Given the description of an element on the screen output the (x, y) to click on. 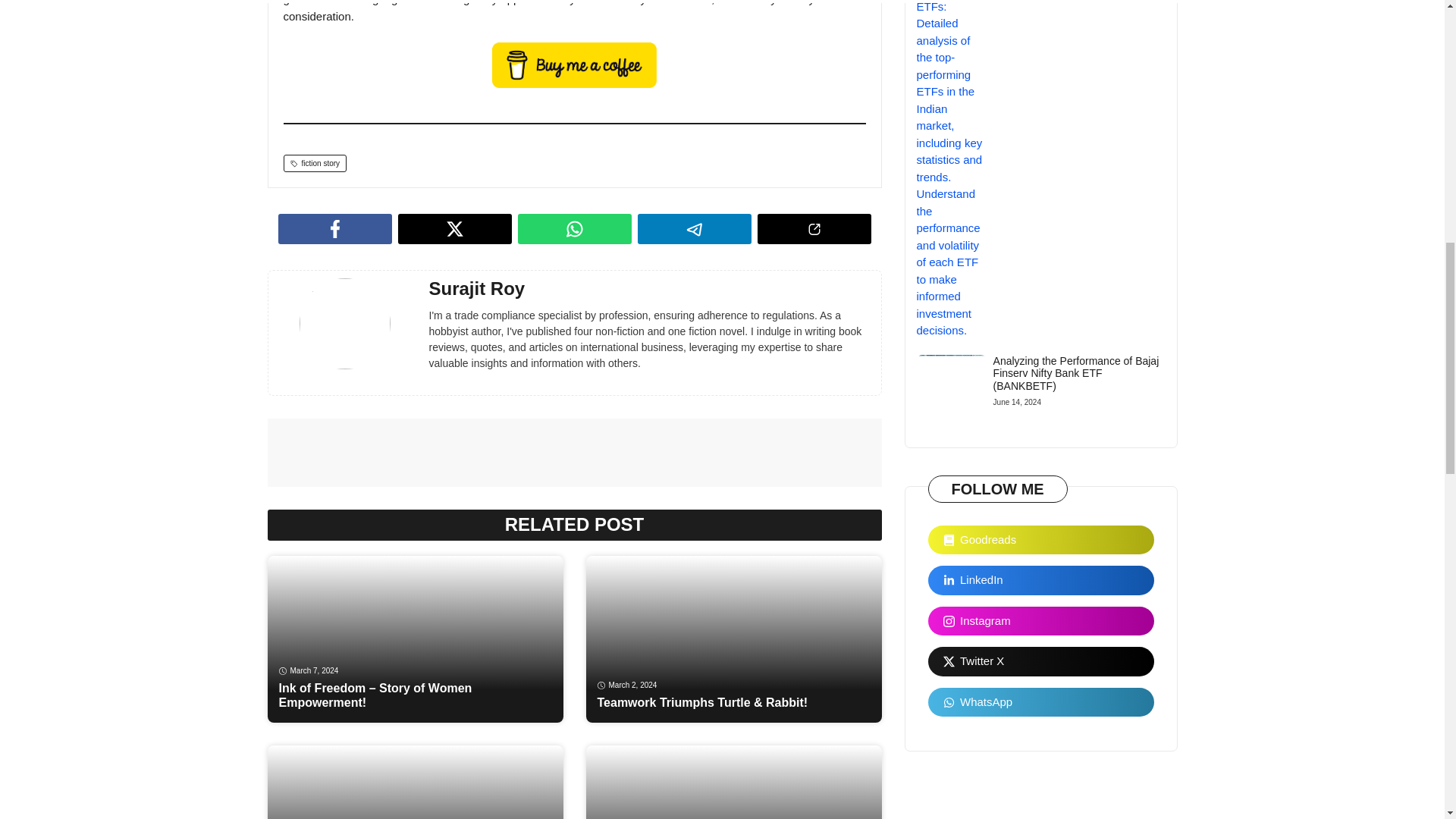
Surajit Roy (477, 288)
Goodreads (1041, 540)
fiction story (315, 162)
